Given the description of an element on the screen output the (x, y) to click on. 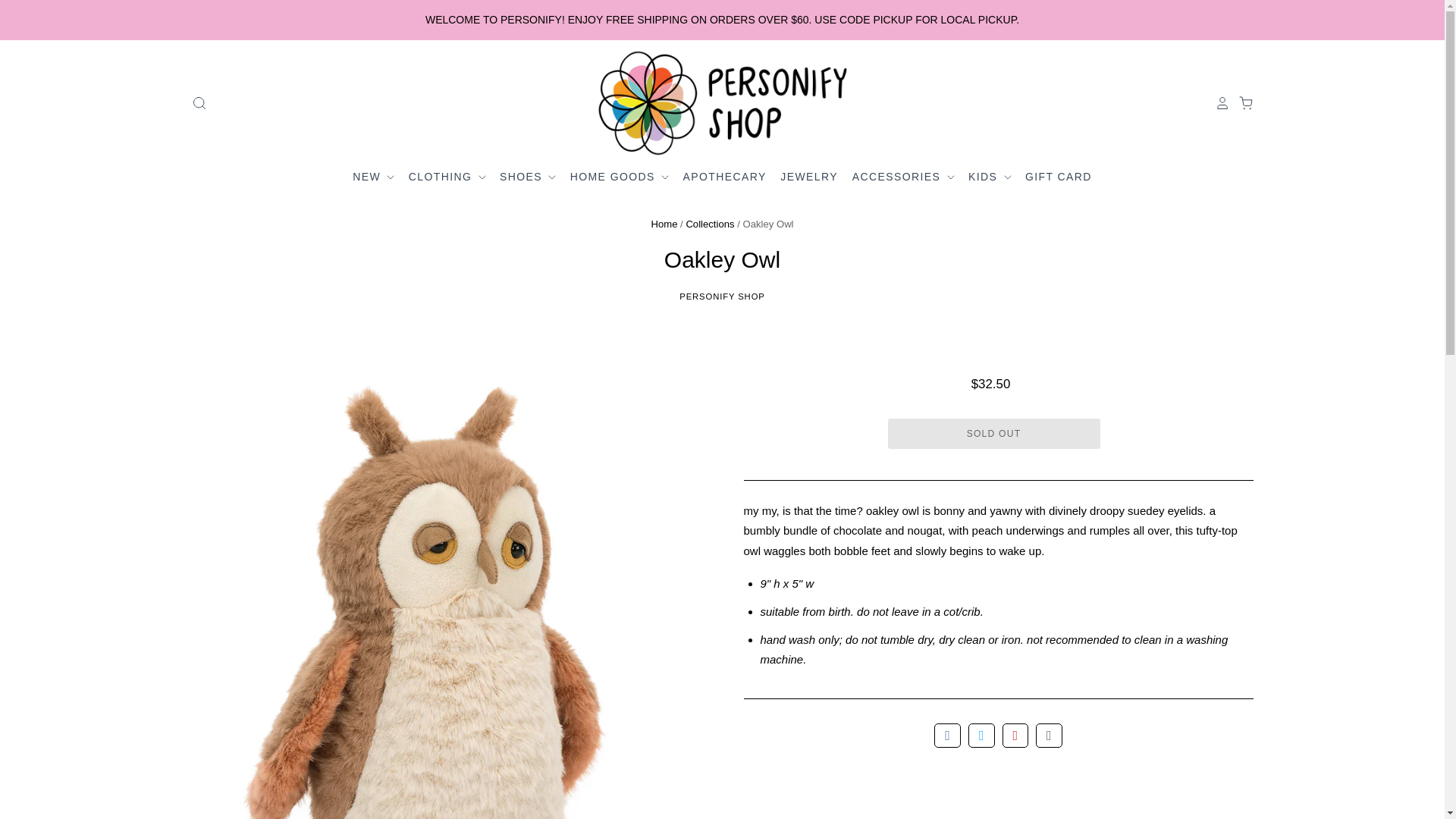
NEW (374, 177)
Sold out (992, 433)
